Given the description of an element on the screen output the (x, y) to click on. 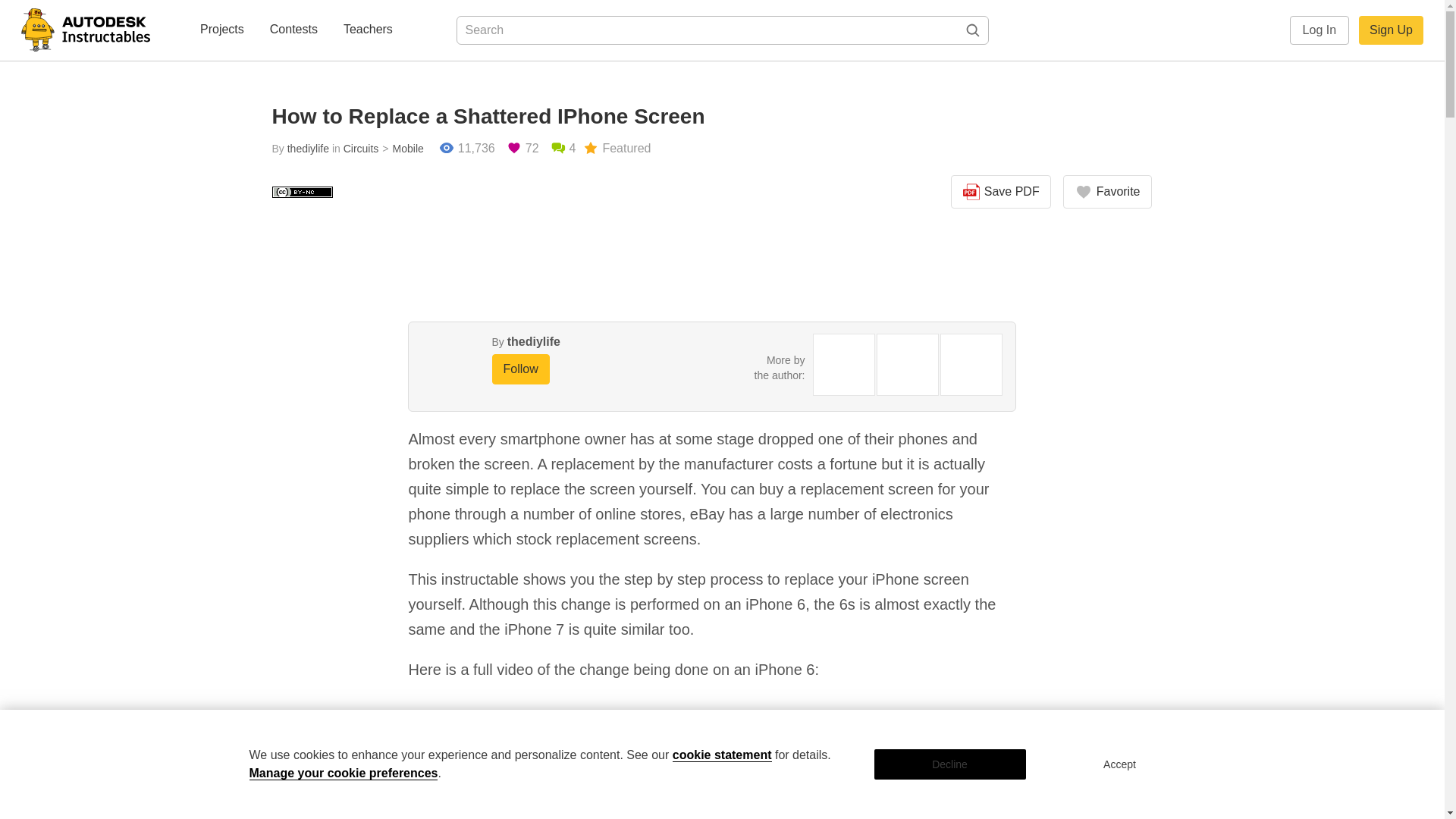
Mobile (400, 148)
Teachers (368, 30)
Save PDF (1000, 191)
Contests (293, 30)
4 (563, 148)
Projects (221, 30)
Log In (1319, 30)
thediylife (307, 148)
Follow (520, 368)
thediylife (533, 341)
Sign Up (1390, 30)
Favorite (1106, 191)
Circuits (360, 148)
More by the author: (779, 366)
